Given the description of an element on the screen output the (x, y) to click on. 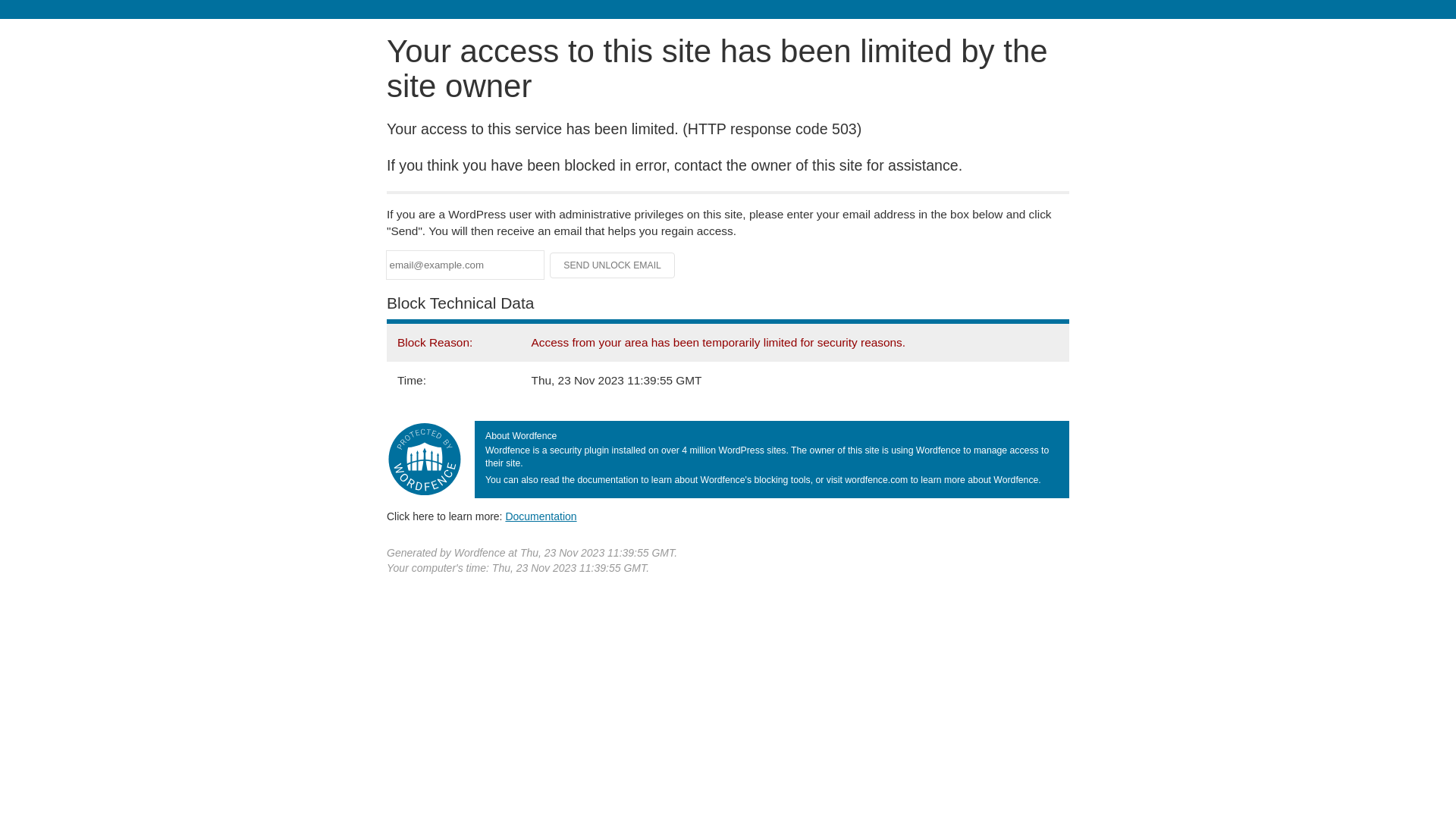
Documentation Element type: text (540, 516)
Send Unlock Email Element type: text (612, 265)
